Given the description of an element on the screen output the (x, y) to click on. 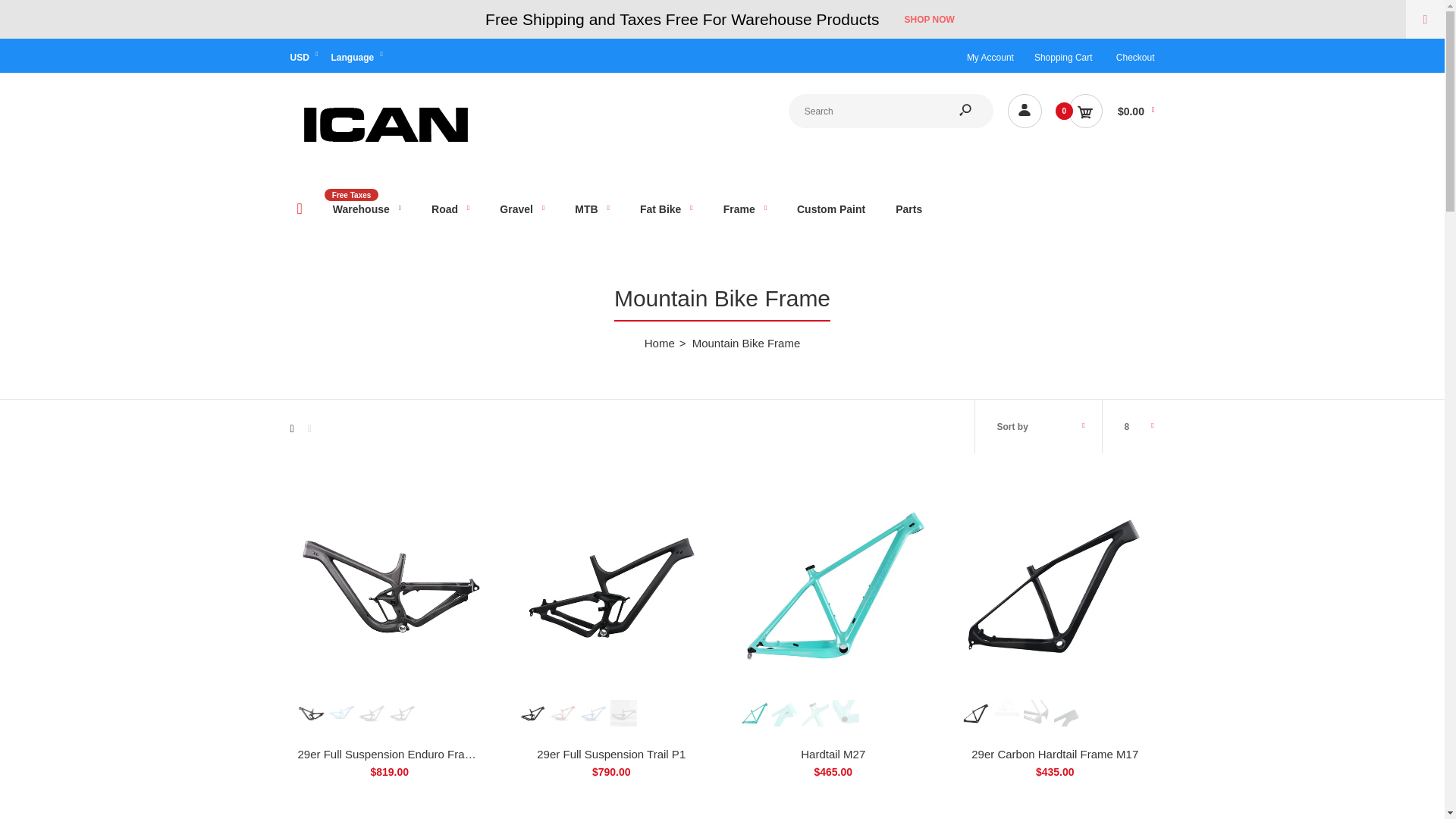
List (309, 428)
ICAN Wheels (384, 124)
ICAN Wheels (384, 150)
SHOP NOW (928, 20)
Grid (291, 428)
